Given the description of an element on the screen output the (x, y) to click on. 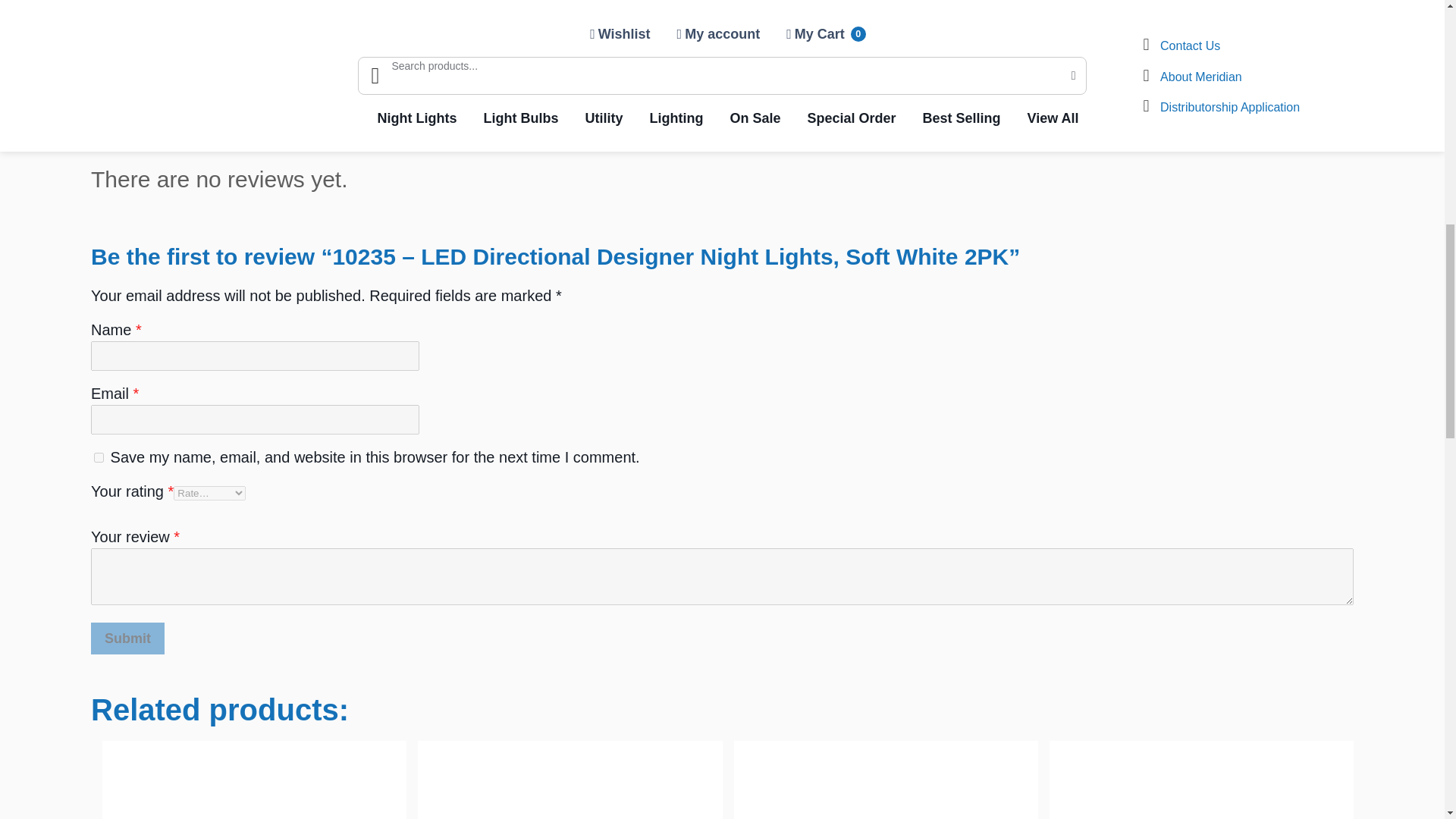
yes (98, 457)
Submit (127, 638)
Submit (127, 638)
